Given the description of an element on the screen output the (x, y) to click on. 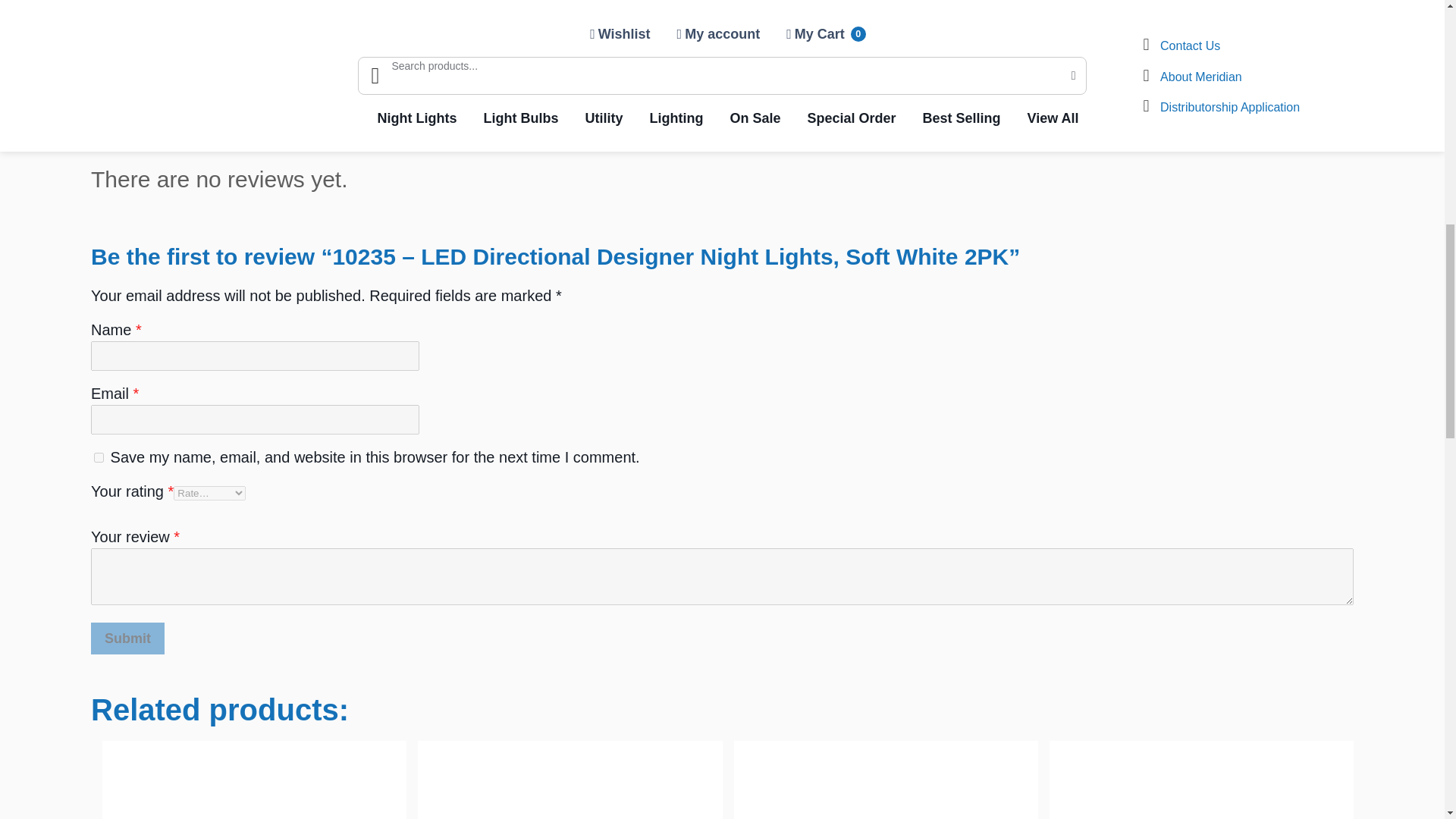
yes (98, 457)
Submit (127, 638)
Submit (127, 638)
